Given the description of an element on the screen output the (x, y) to click on. 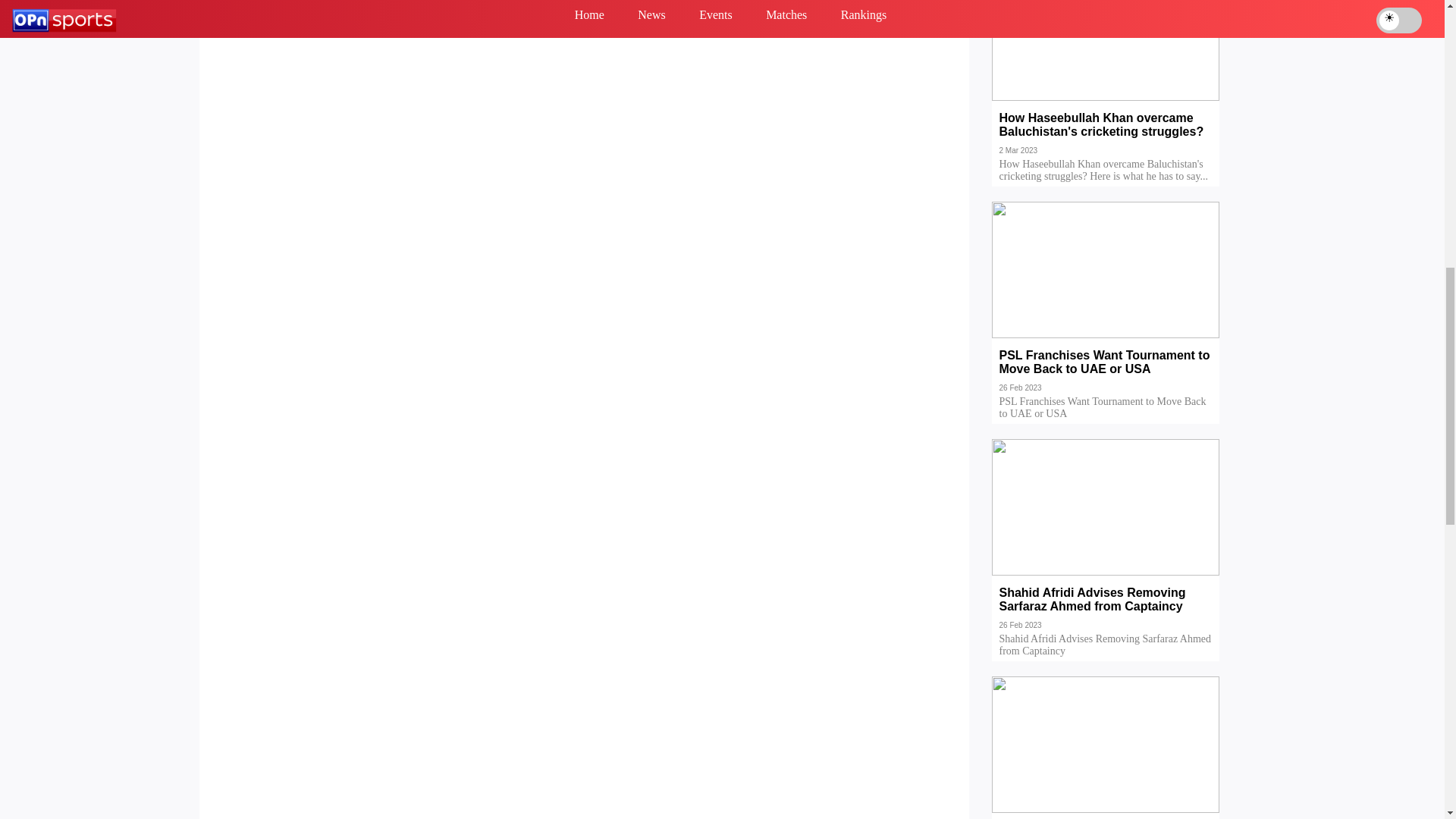
PSL Franchises Want Tournament to Move Back to UAE or USA (1105, 372)
Shahid Afridi Advises Removing Sarfaraz Ahmed from Captaincy (1105, 610)
